Given the description of an element on the screen output the (x, y) to click on. 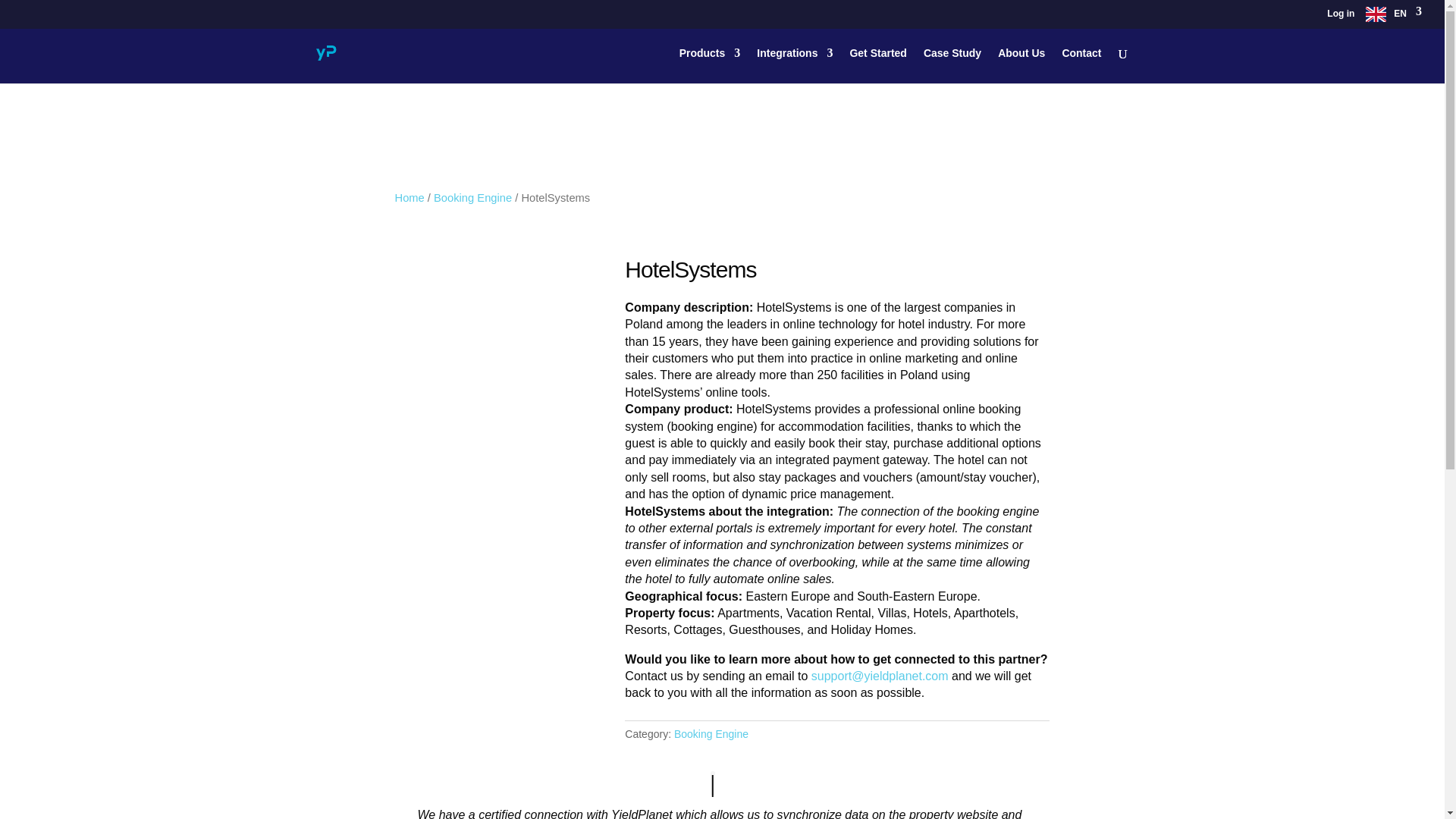
Products (710, 65)
Get Started (876, 65)
Integrations (794, 65)
Booking Engine (711, 734)
About Us (1021, 65)
EN (1393, 17)
Case Study (952, 65)
Log in (1340, 17)
Home (408, 197)
Booking Engine (472, 197)
